Given the description of an element on the screen output the (x, y) to click on. 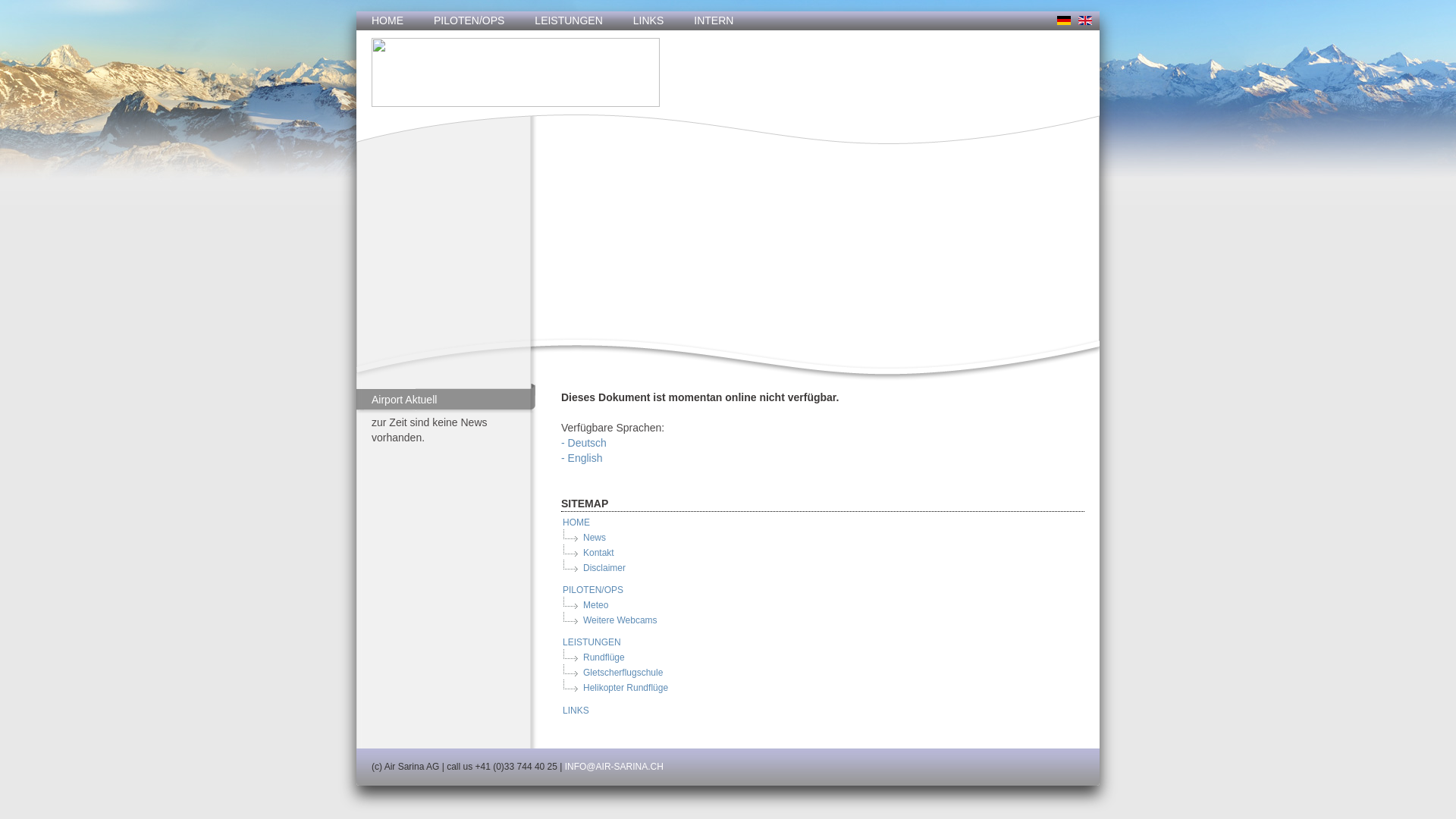
LEISTUNGEN Element type: text (591, 642)
INTERN Element type: text (713, 20)
PILOTEN/OPS Element type: text (592, 589)
HOME Element type: text (387, 20)
HOME Element type: text (575, 522)
Weitere Webcams Element type: text (619, 620)
- Deutsch Element type: text (583, 442)
Kontakt Element type: text (597, 552)
Gletscherflugschule Element type: text (621, 672)
INFO@AIR-SARINA.CH Element type: text (613, 766)
- English Element type: text (581, 457)
Meteo Element type: text (594, 604)
Disclaimer Element type: text (603, 567)
News Element type: text (593, 537)
LINKS Element type: text (648, 20)
PILOTEN/OPS Element type: text (468, 20)
LINKS Element type: text (575, 710)
englisch Element type: hover (1085, 20)
deutsch Element type: hover (1063, 20)
LEISTUNGEN Element type: text (568, 20)
